Given the description of an element on the screen output the (x, y) to click on. 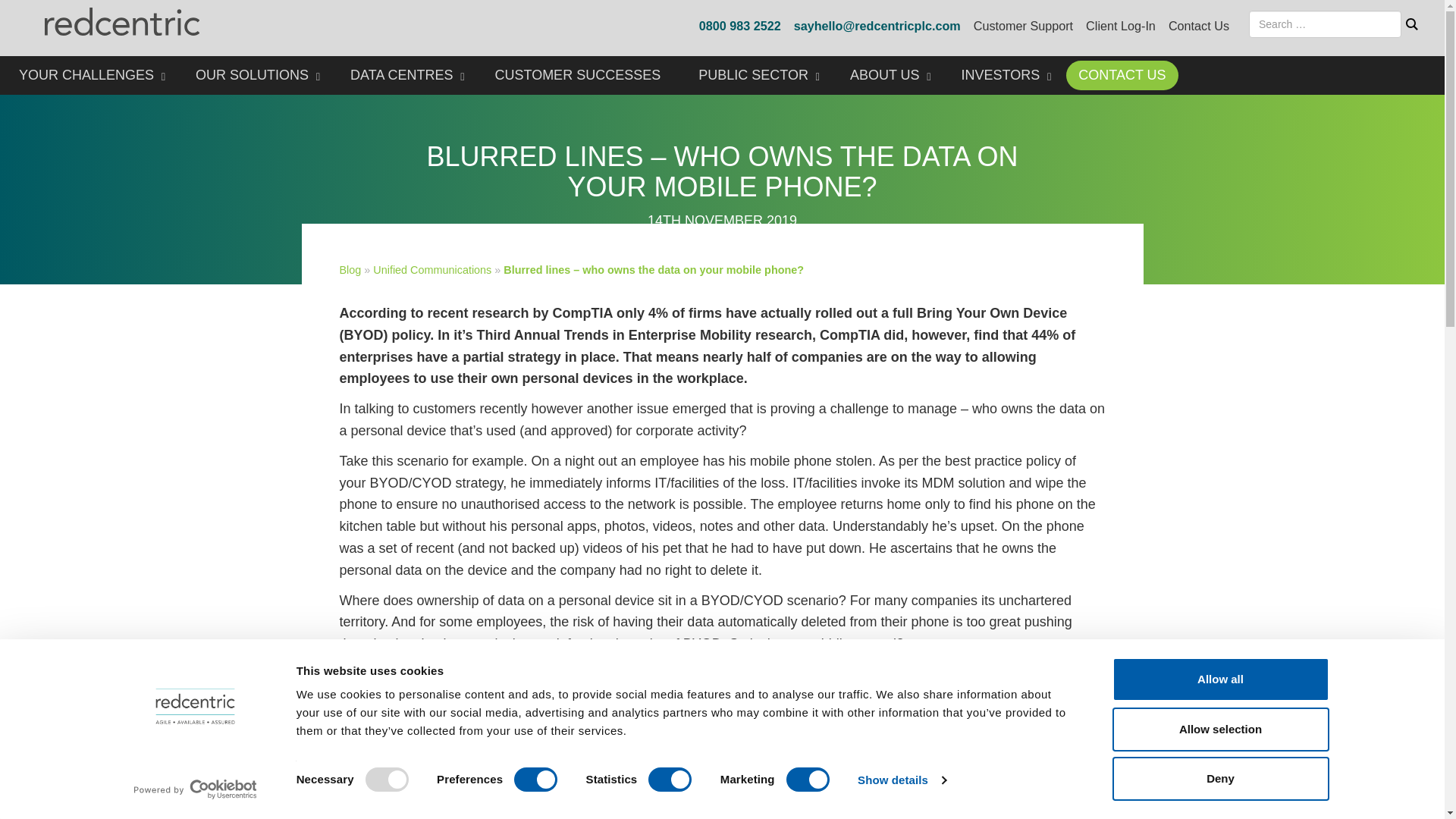
Show details (900, 780)
